Given the description of an element on the screen output the (x, y) to click on. 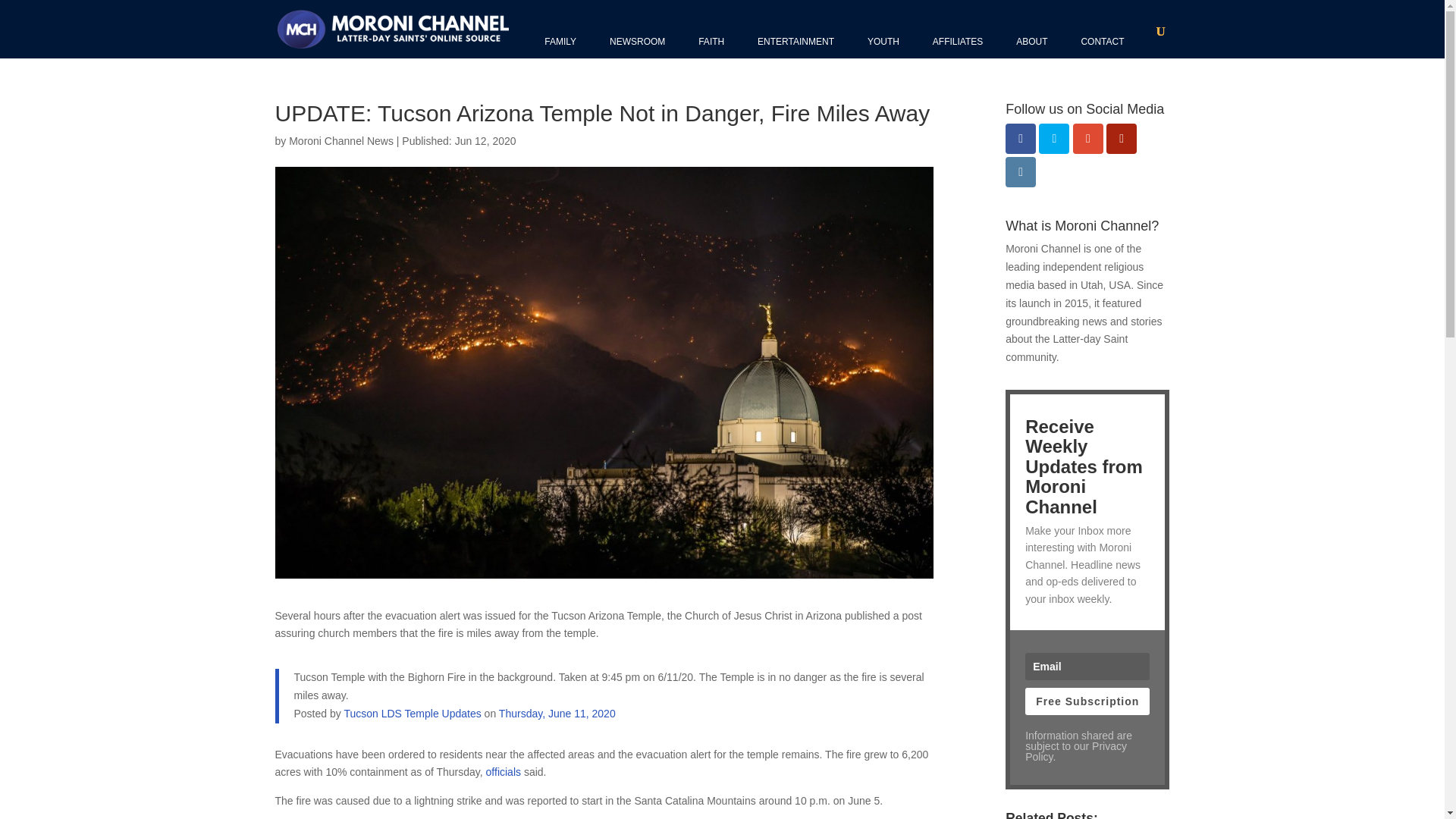
FAITH (710, 41)
FAMILY (560, 41)
Posts by Moroni Channel News (340, 141)
AFFILIATES (957, 41)
ENTERTAINMENT (795, 41)
CONTACT (1101, 41)
ABOUT (1031, 41)
NEWSROOM (636, 41)
YOUTH (882, 41)
